Given the description of an element on the screen output the (x, y) to click on. 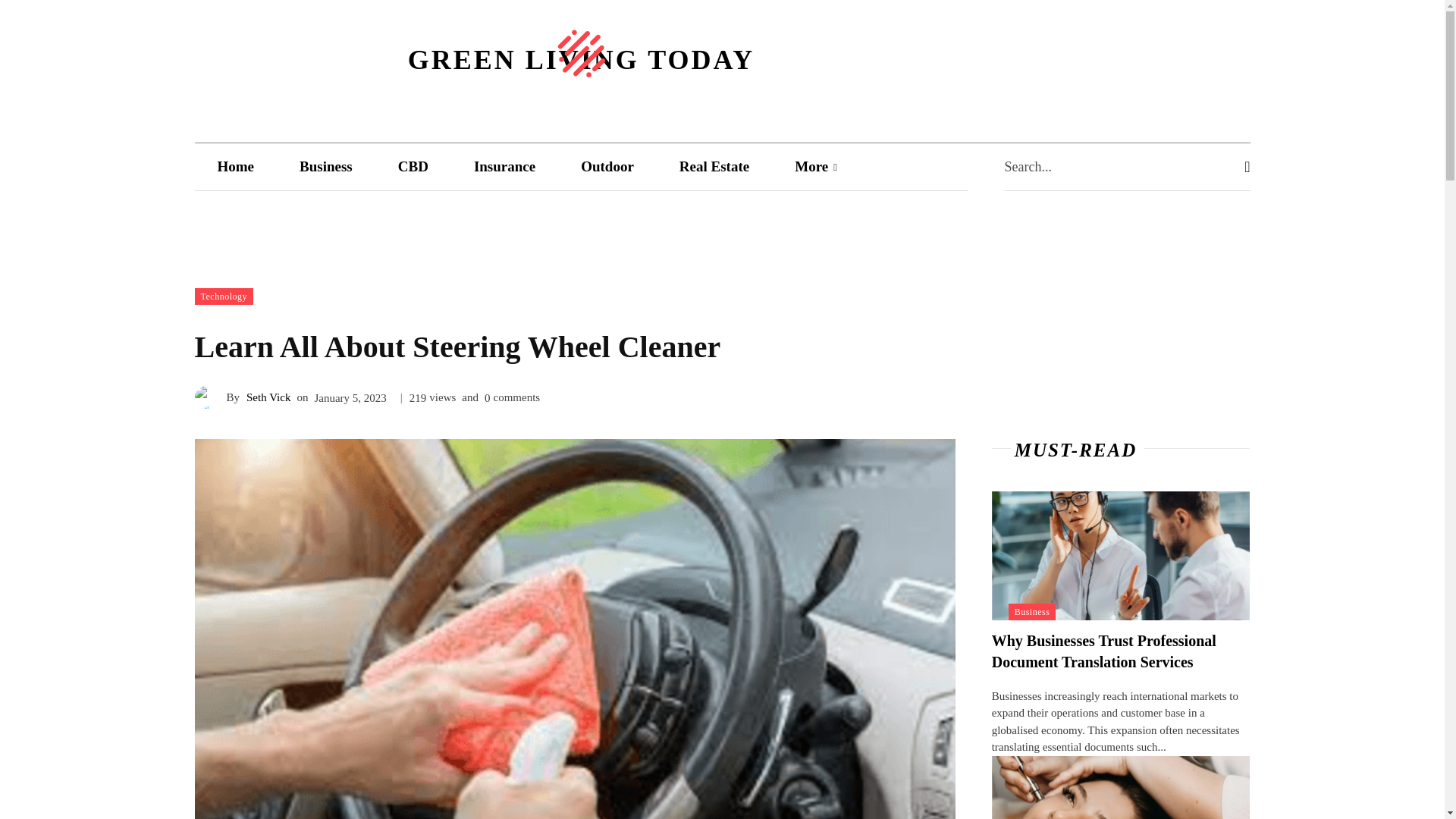
Insurance (504, 166)
Seth Vick (267, 397)
CBD (413, 166)
Home (234, 166)
GREEN LIVING TODAY (580, 49)
Business (1033, 611)
Seth Vick (209, 396)
Outdoor (606, 166)
Business (325, 166)
Real Estate (713, 166)
Technology (222, 296)
